Given the description of an element on the screen output the (x, y) to click on. 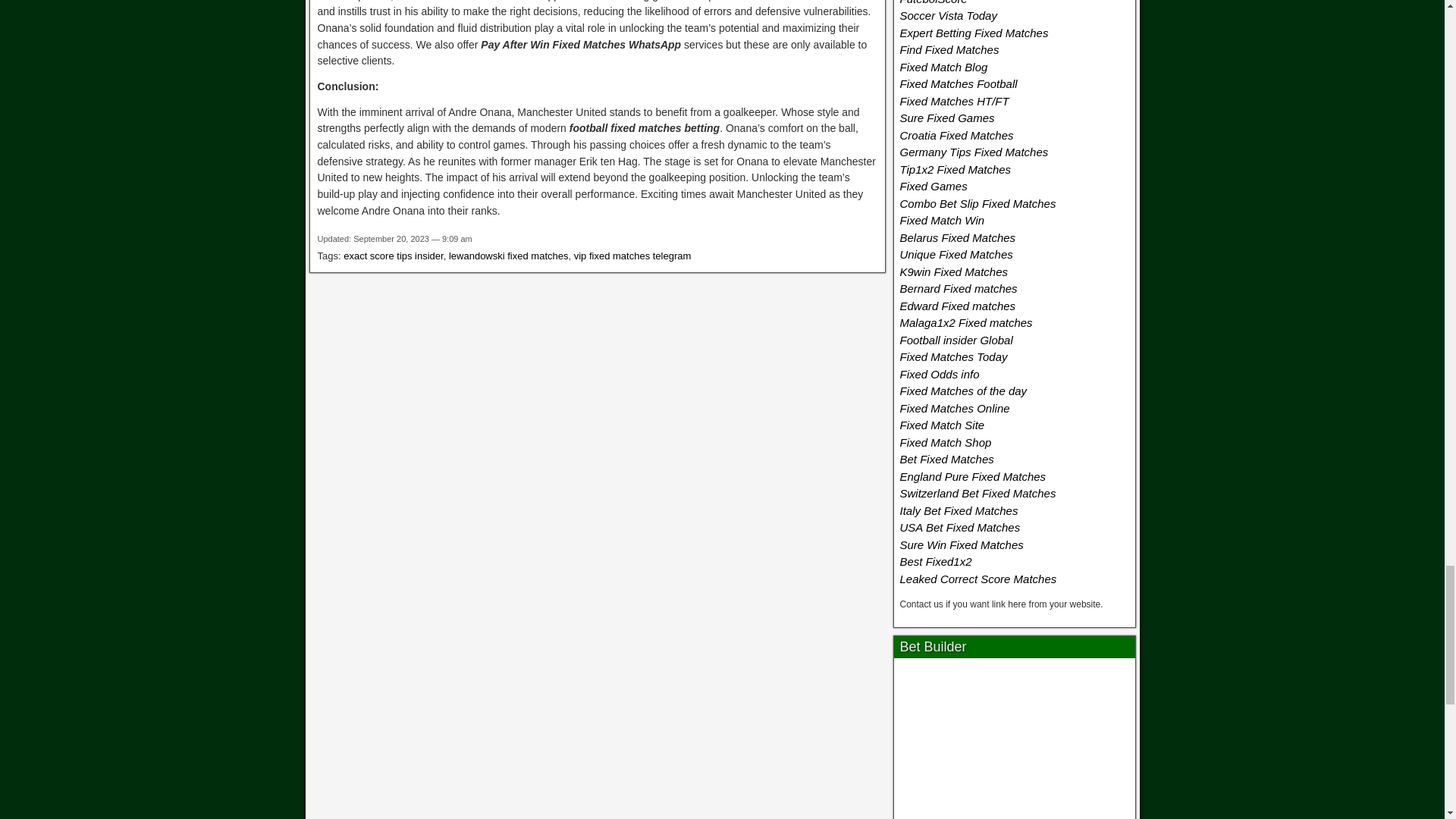
vip fixed matches telegram (632, 255)
lewandowski fixed matches (508, 255)
exact score tips insider (393, 255)
Bet Builder Bet365 Bookie (1014, 741)
